Given the description of an element on the screen output the (x, y) to click on. 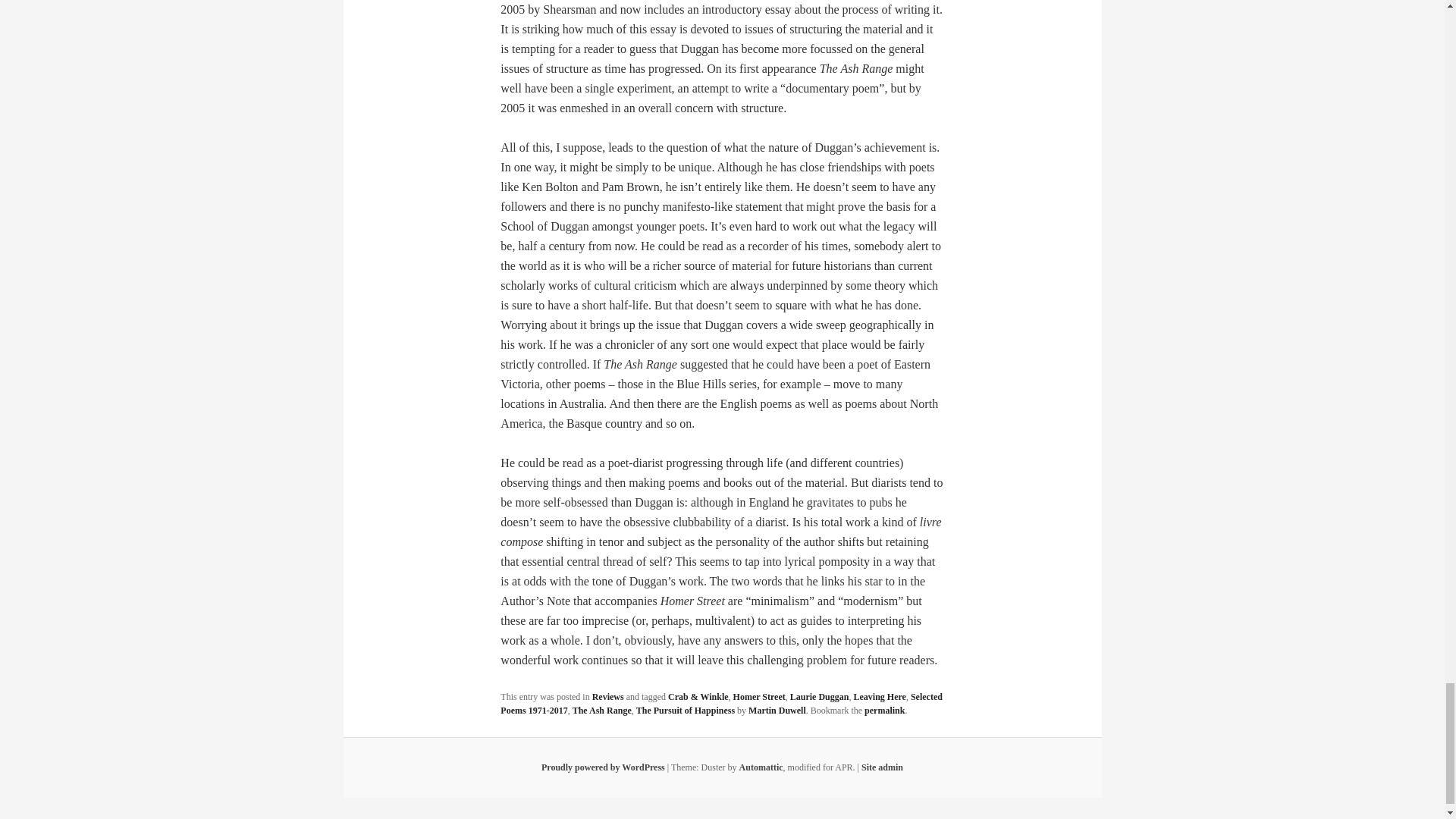
Martin Duwell (777, 710)
The Ash Range (601, 710)
Site admin (881, 767)
Laurie Duggan (819, 696)
Proudly powered by WordPress (603, 767)
Homer Street (759, 696)
permalink (884, 710)
Automattic (761, 767)
Leaving Here (879, 696)
The Pursuit of Happiness (685, 710)
Selected Poems 1971-2017 (721, 703)
Reviews (608, 696)
